Given the description of an element on the screen output the (x, y) to click on. 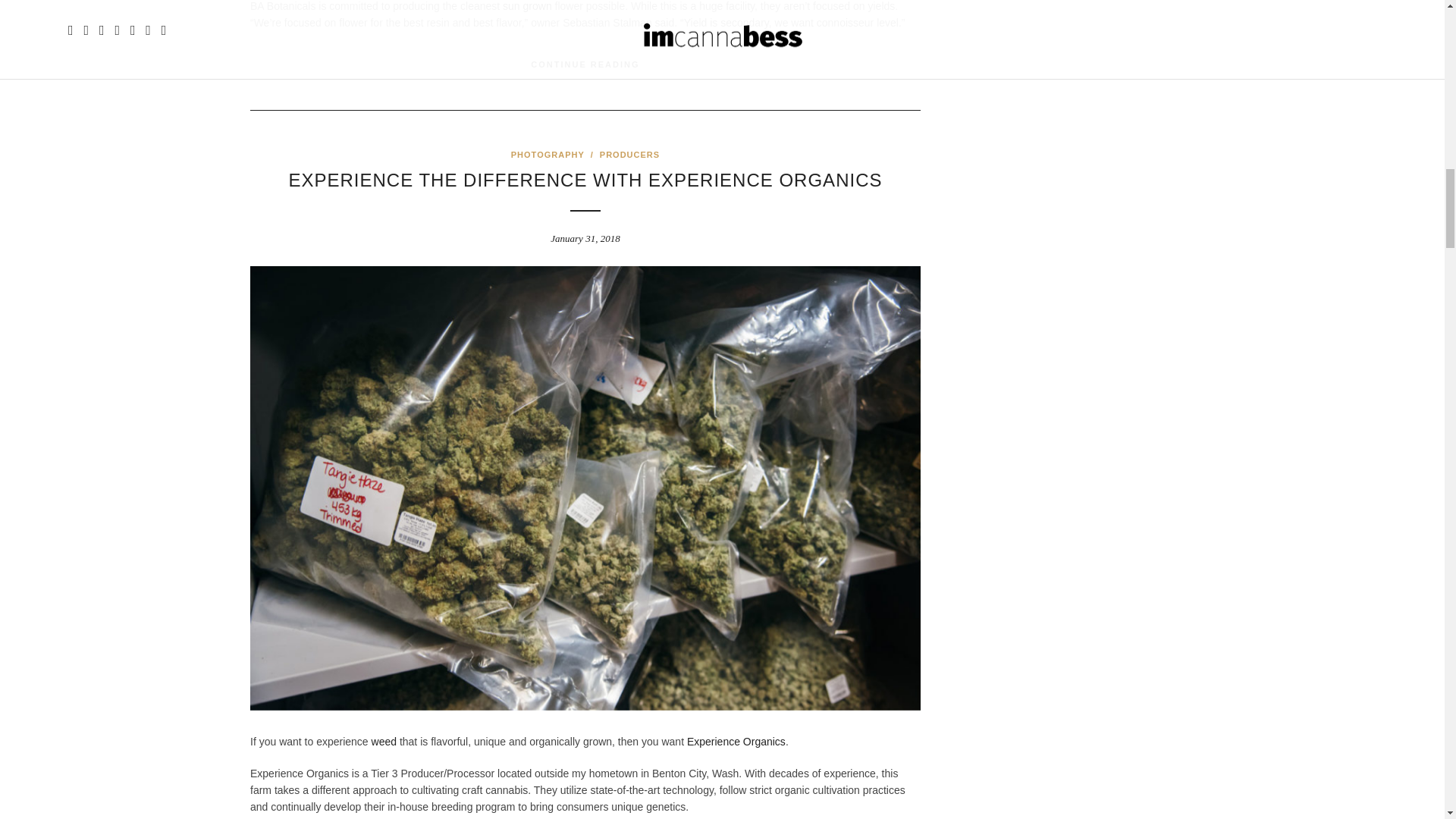
Experience Organics (736, 741)
PHOTOGRAPHY (548, 153)
weed (383, 741)
Experience the Difference with Experience Organics (585, 179)
sun grown (526, 6)
EXPERIENCE THE DIFFERENCE WITH EXPERIENCE ORGANICS (585, 179)
CONTINUE READING (585, 63)
PRODUCERS (629, 153)
